Given the description of an element on the screen output the (x, y) to click on. 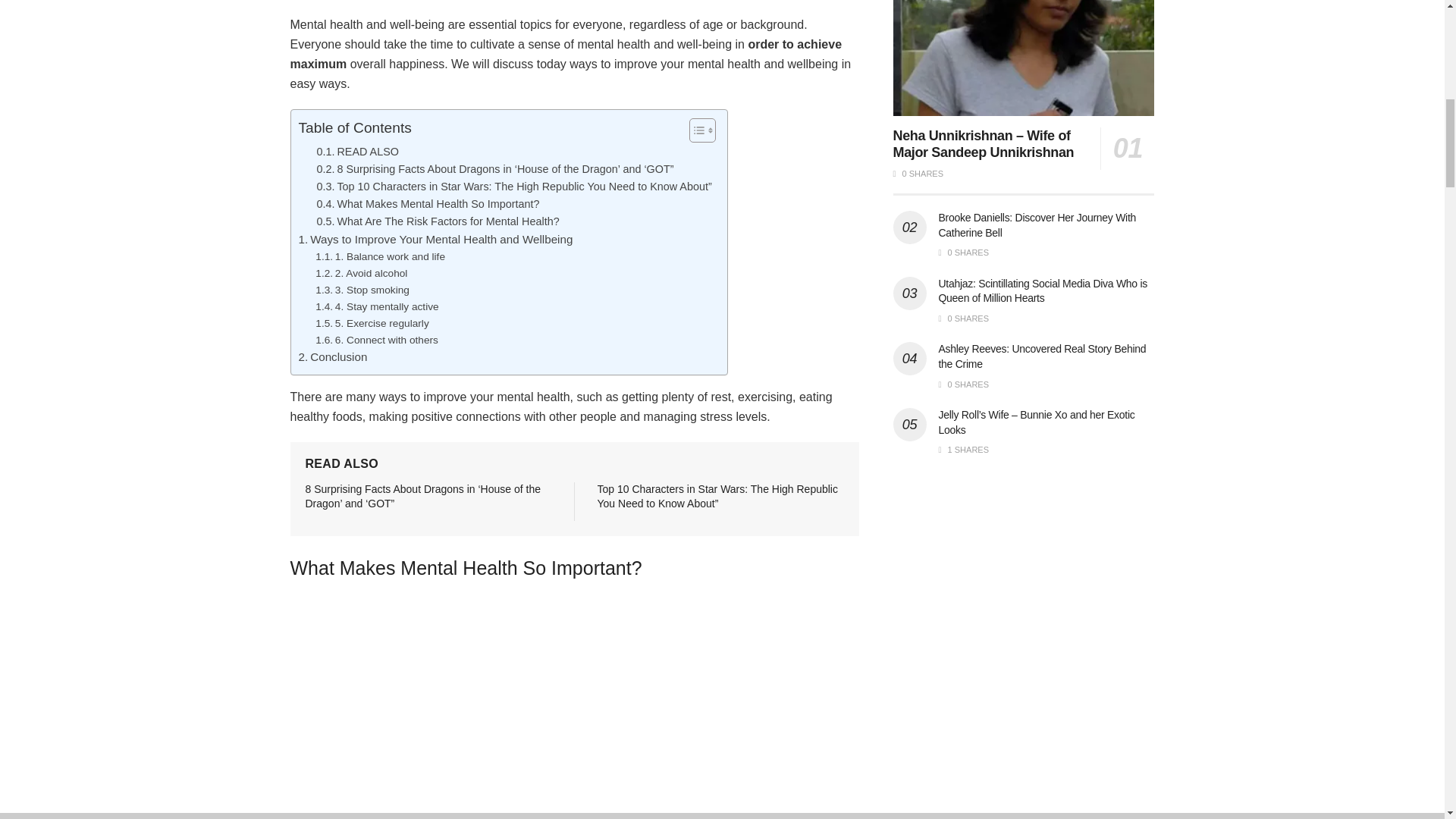
2. Avoid alcohol (361, 273)
What Makes Mental Health So Important? (428, 203)
Conclusion (333, 357)
6. Connect with others (376, 340)
READ ALSO (357, 151)
3. Stop smoking (362, 289)
Ways to Improve Your Mental Health and Wellbeing (435, 239)
What Are The Risk Factors for Mental Health? (438, 221)
5. Exercise regularly (371, 323)
1. Balance work and life (380, 256)
4. Stay mentally active (376, 306)
